Given the description of an element on the screen output the (x, y) to click on. 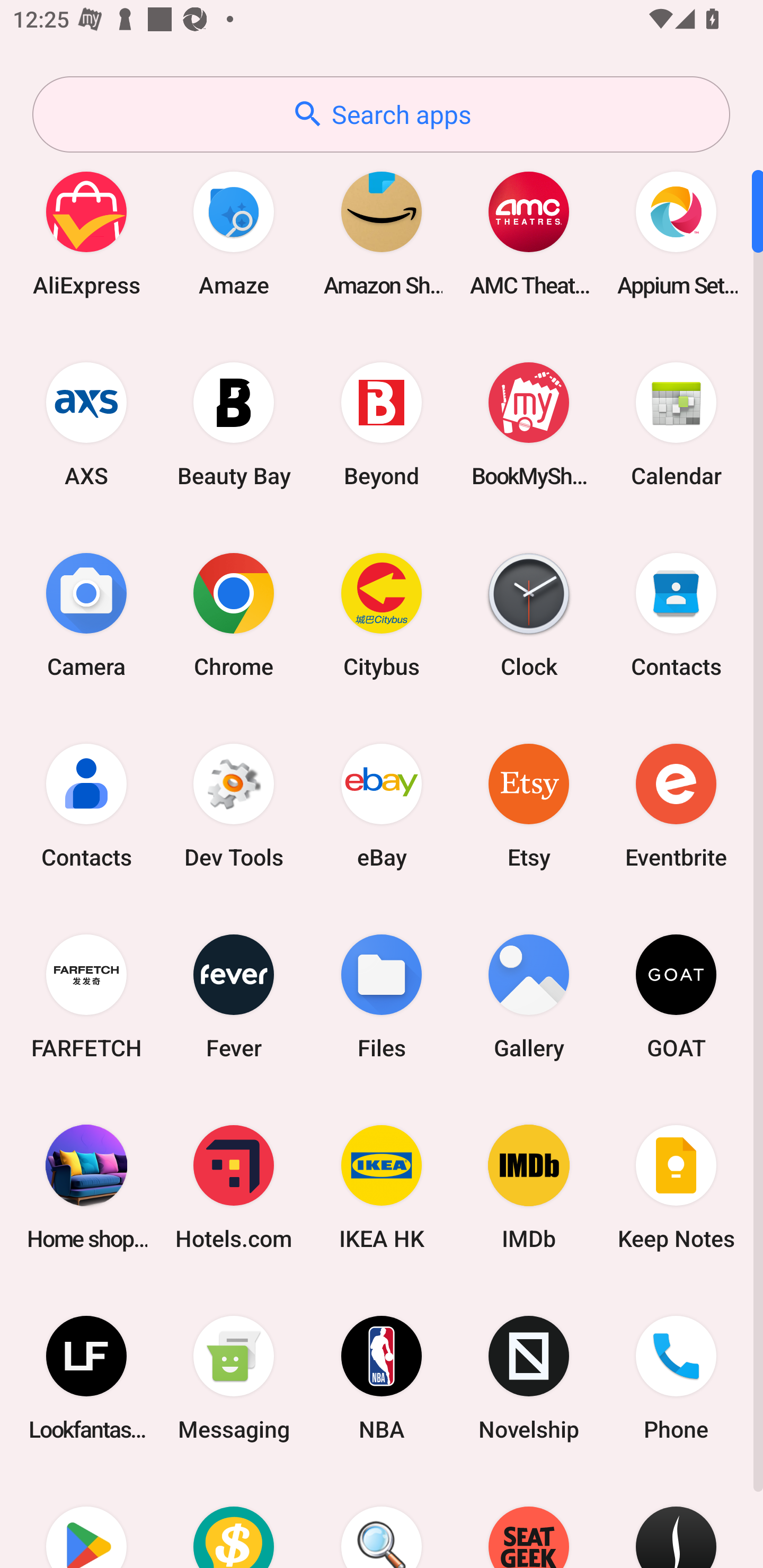
  Search apps (381, 114)
AliExpress (86, 233)
Amaze (233, 233)
Amazon Shopping (381, 233)
AMC Theatres (528, 233)
Appium Settings (676, 233)
AXS (86, 424)
Beauty Bay (233, 424)
Beyond (381, 424)
BookMyShow (528, 424)
Calendar (676, 424)
Camera (86, 614)
Chrome (233, 614)
Citybus (381, 614)
Clock (528, 614)
Contacts (676, 614)
Contacts (86, 805)
Dev Tools (233, 805)
eBay (381, 805)
Etsy (528, 805)
Eventbrite (676, 805)
FARFETCH (86, 996)
Fever (233, 996)
Files (381, 996)
Gallery (528, 996)
GOAT (676, 996)
Home shopping (86, 1186)
Hotels.com (233, 1186)
IKEA HK (381, 1186)
IMDb (528, 1186)
Keep Notes (676, 1186)
Lookfantastic (86, 1377)
Messaging (233, 1377)
NBA (381, 1377)
Novelship (528, 1377)
Phone (676, 1377)
